Given the description of an element on the screen output the (x, y) to click on. 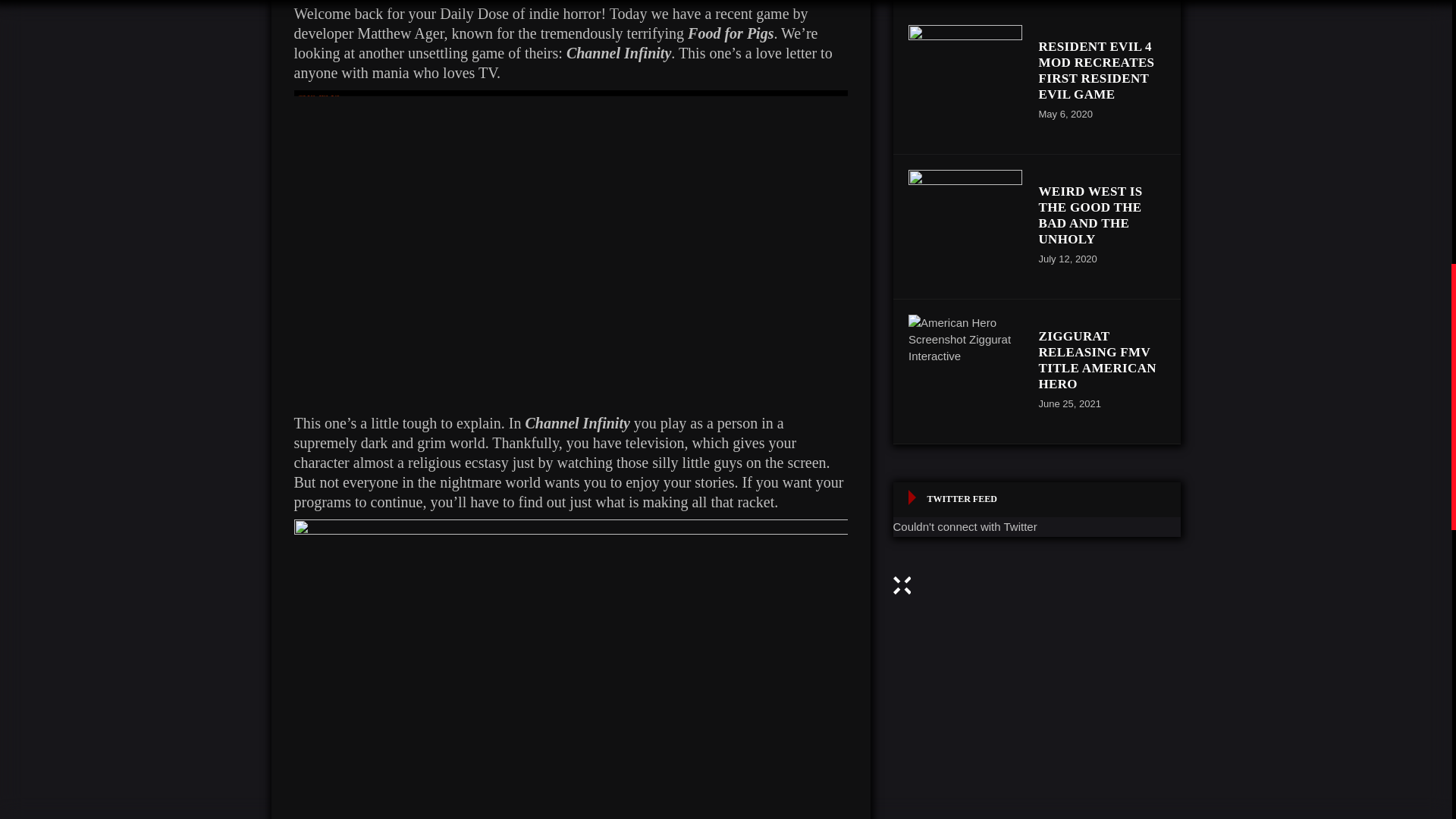
Ziggurat Releasing FMV Title American Hero (965, 371)
Ziggurat Releasing FMV Title American Hero (1097, 360)
Weird West Is The Good The Bad And The Unholy (965, 226)
Weird West Is The Good The Bad And The Unholy (1090, 215)
RESIDENT EVIL 4 MOD RECREATES FIRST RESIDENT EVIL GAME (965, 81)
RESIDENT EVIL 4 MOD RECREATES FIRST RESIDENT EVIL GAME (1096, 70)
